Given the description of an element on the screen output the (x, y) to click on. 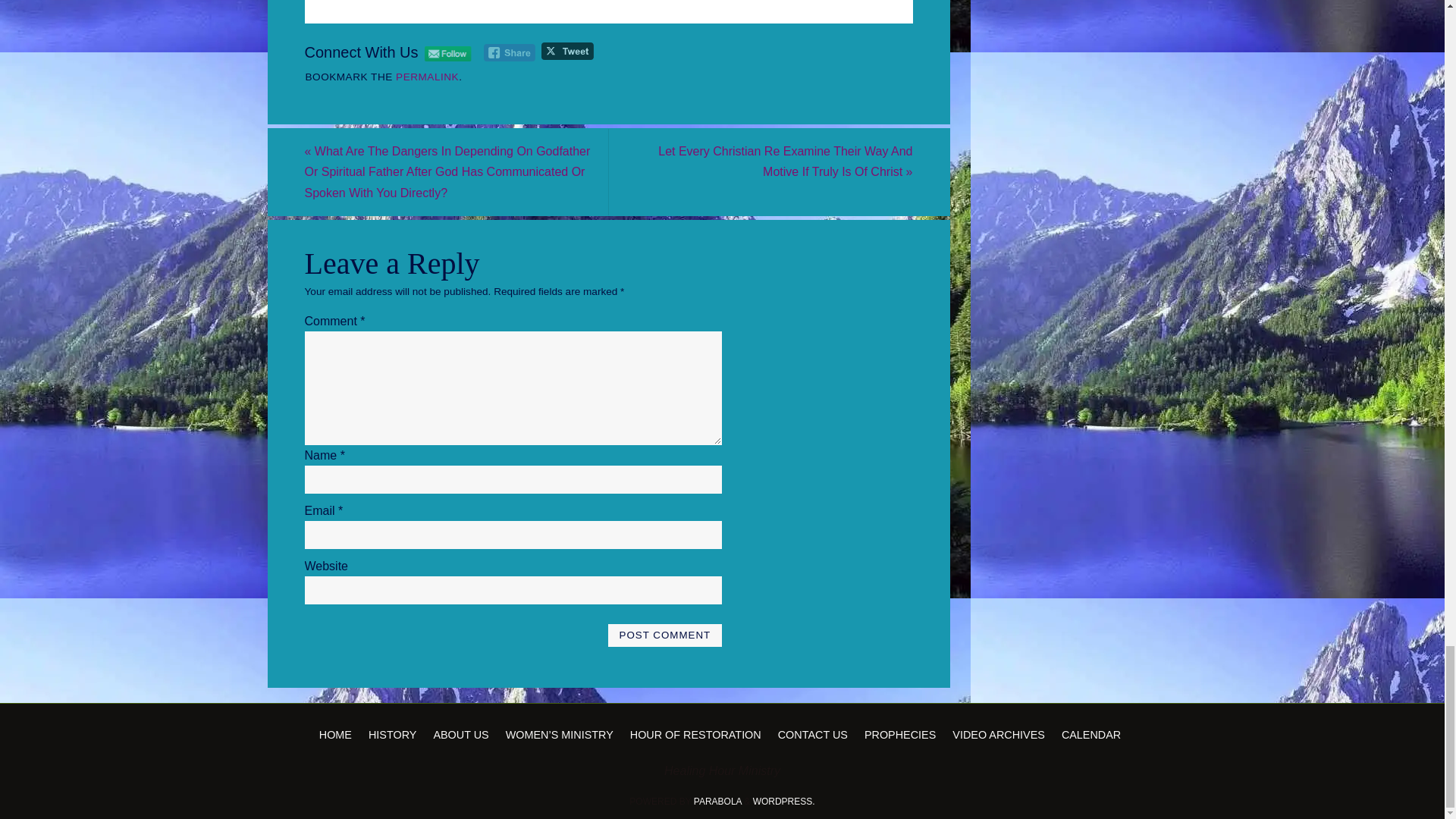
HOUR OF RESTORATION (698, 732)
PERMALINK (427, 76)
Tweet (567, 50)
HOME (337, 732)
Post Comment (664, 635)
ABOUT US (462, 732)
Facebook Share (509, 52)
HISTORY (395, 732)
Post Comment (664, 635)
